Given the description of an element on the screen output the (x, y) to click on. 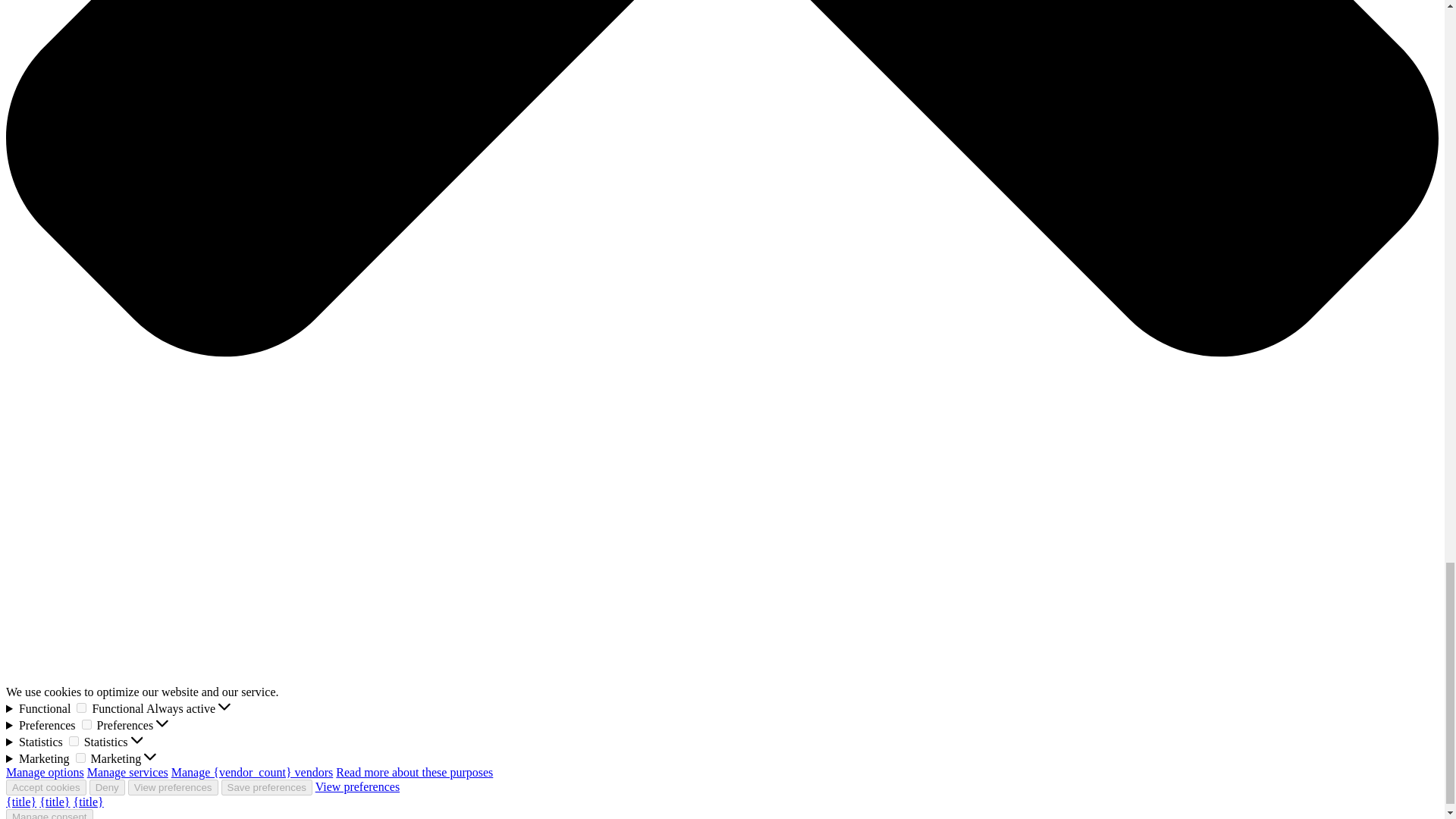
Accept cookies (45, 787)
1 (81, 707)
1 (86, 724)
View preferences (173, 787)
Manage services (127, 771)
1 (73, 741)
Manage options (44, 771)
Save preferences (267, 787)
View preferences (356, 786)
Deny (106, 787)
Read more about these purposes (414, 771)
1 (80, 757)
